Given the description of an element on the screen output the (x, y) to click on. 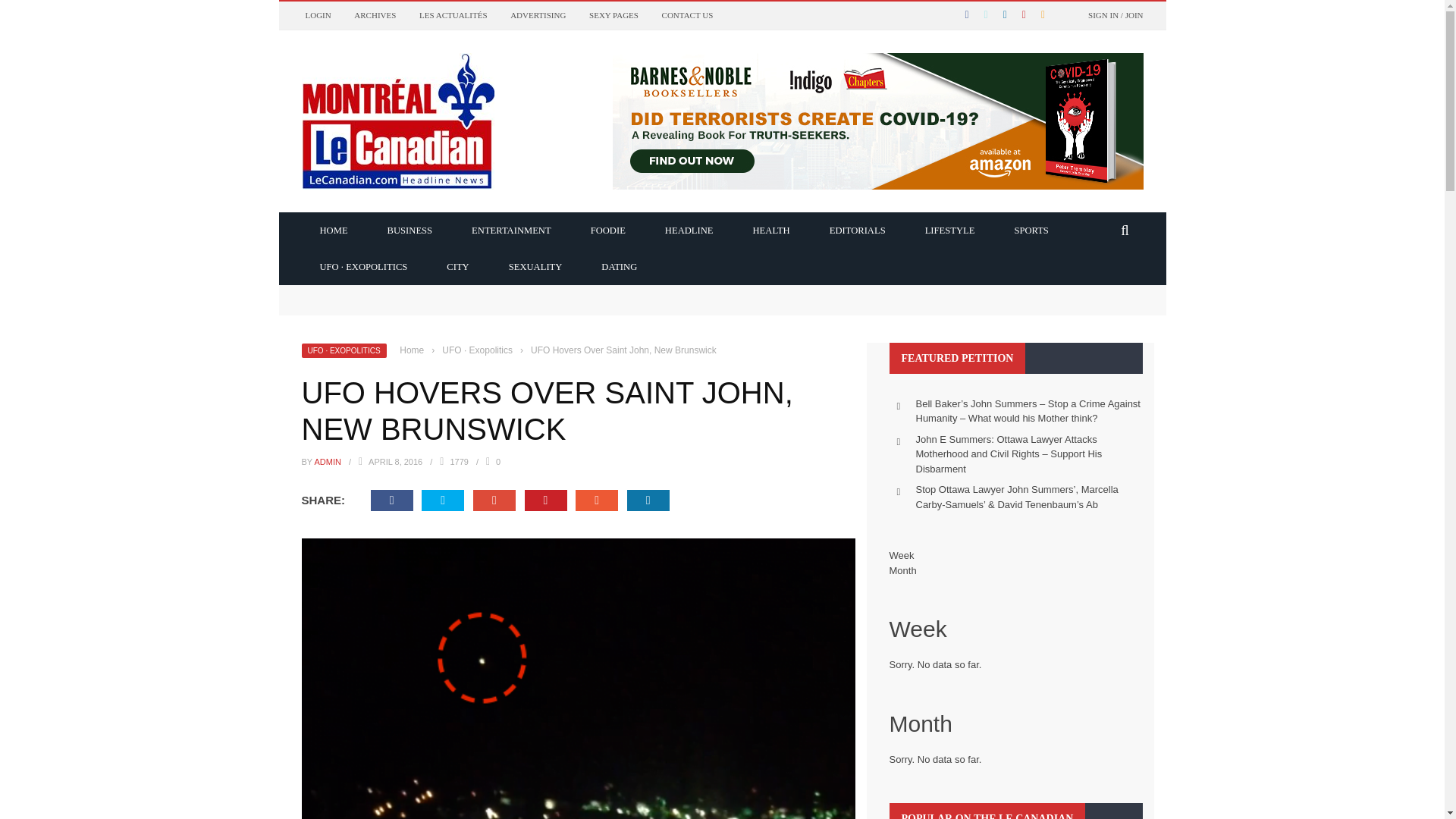
CONTACT US (687, 14)
HOME (333, 229)
ARCHIVES (374, 14)
ADVERTISING (538, 14)
LOGIN (317, 14)
SEXY PAGES (614, 14)
